Given the description of an element on the screen output the (x, y) to click on. 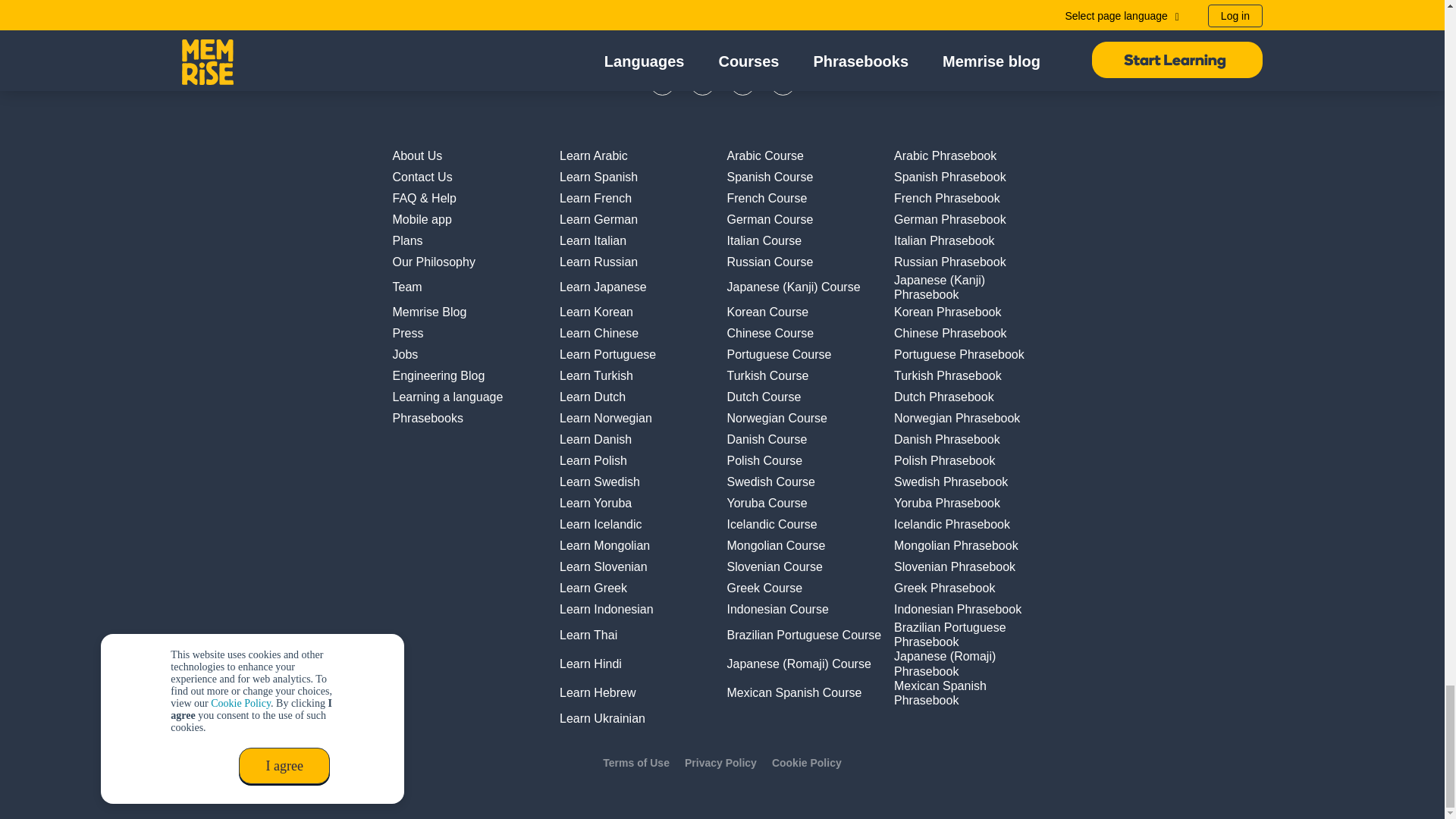
Start learning (721, 19)
